Given the description of an element on the screen output the (x, y) to click on. 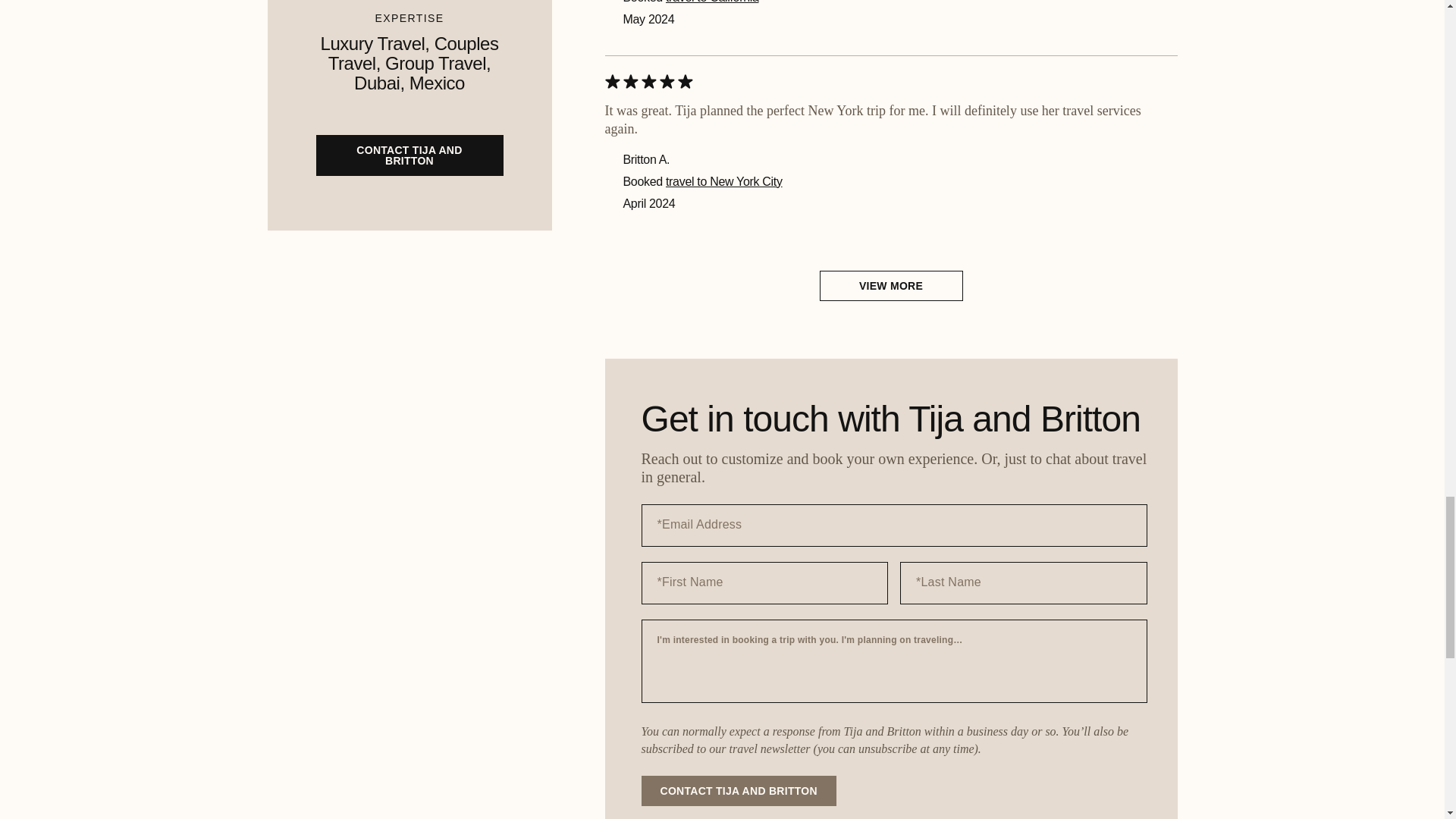
PARTNERS (638, 757)
CONTACT TIJA AND BRITTON (738, 341)
EVENTS (797, 622)
BECOME AN ADVISOR (486, 562)
WHY BOOK WITH FORA (638, 562)
COMMUNITY STORIES (486, 667)
REVIEWS (638, 786)
ADVISOR PORTAL (486, 733)
TRAVEL ADVISOR RESOURCES (486, 599)
ALL TRAVEL ADVISORS (638, 697)
